Given the description of an element on the screen output the (x, y) to click on. 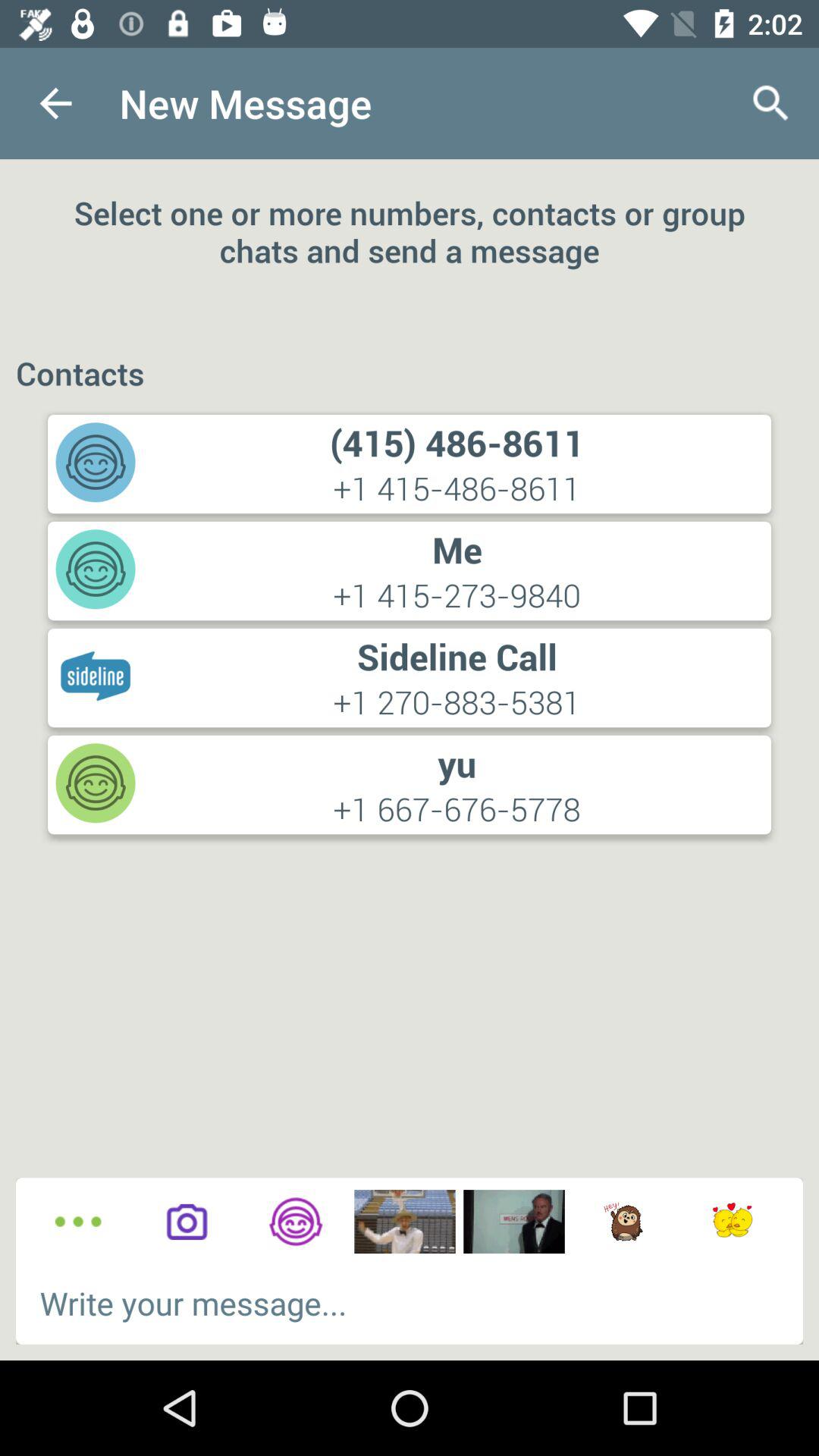
choose the image (404, 1221)
